Given the description of an element on the screen output the (x, y) to click on. 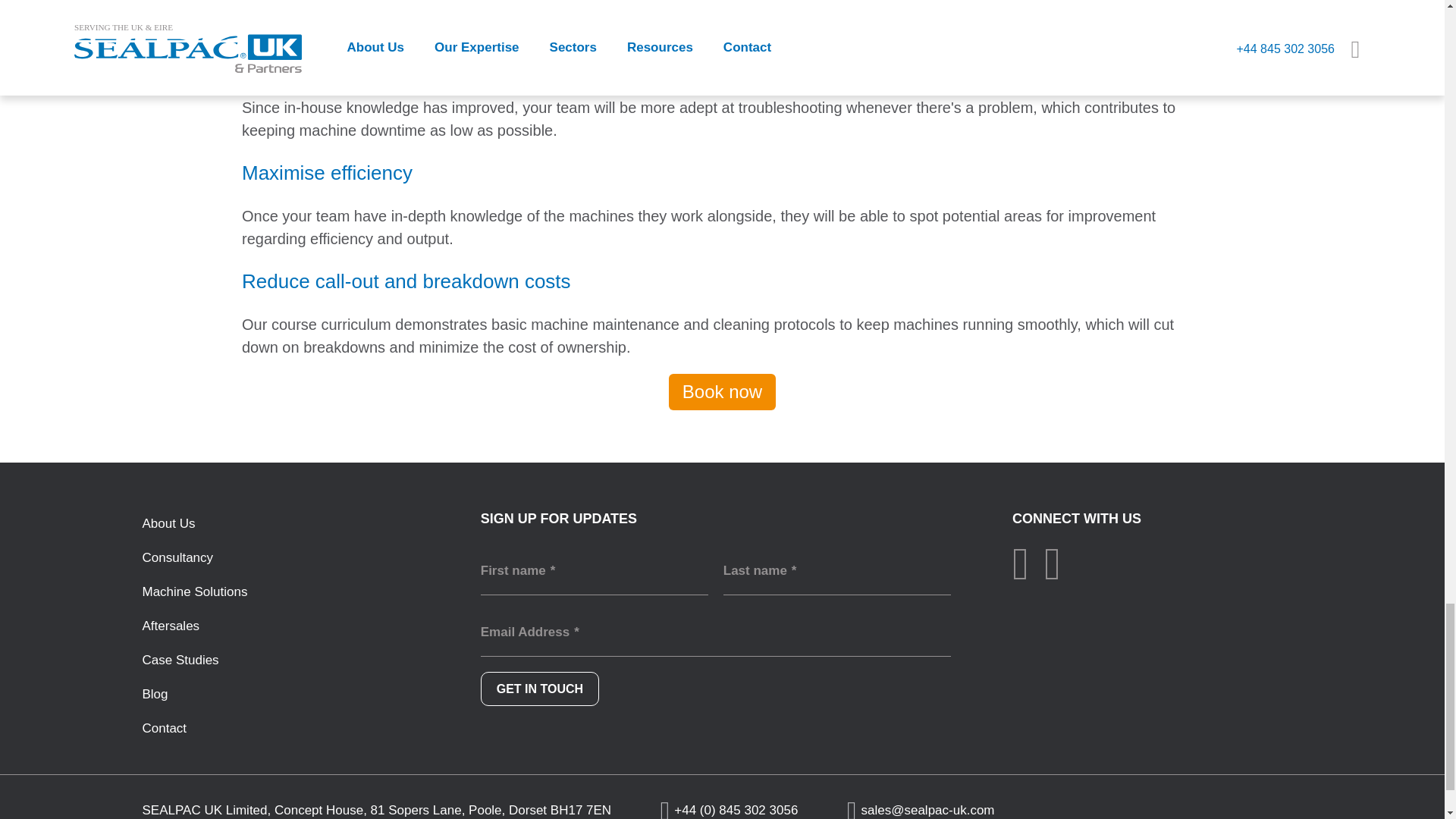
Get in touch (539, 688)
Book now (722, 391)
